Given the description of an element on the screen output the (x, y) to click on. 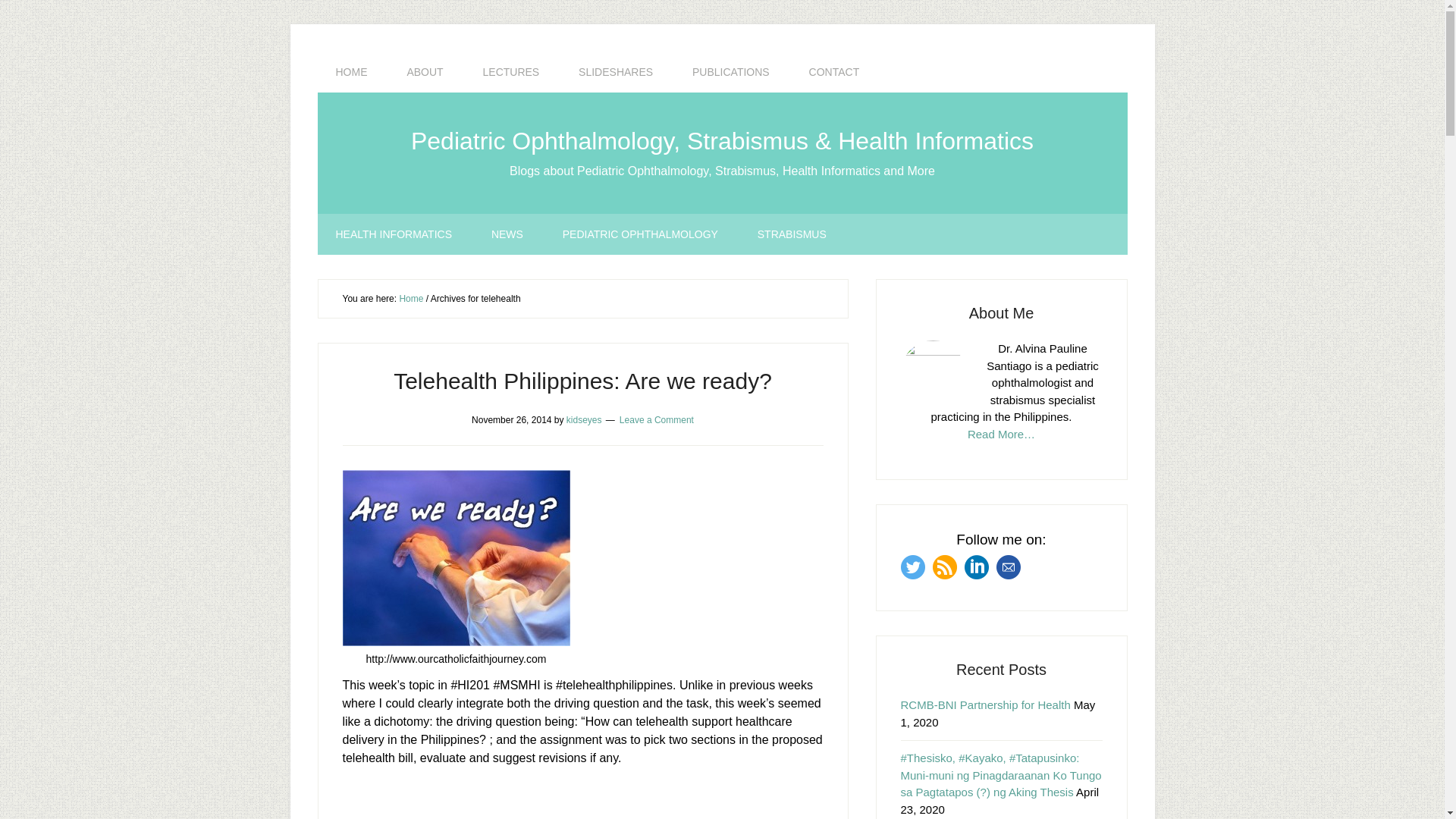
RCMB-BNI Partnership for Health (985, 704)
ABOUT (424, 71)
PUBLICATIONS (730, 71)
LECTURES (510, 71)
NEWS (507, 233)
HEALTH INFORMATICS (393, 233)
Telehealth Philippines: Are we ready? (582, 380)
Leave a Comment (657, 419)
STRABISMUS (791, 233)
kidseyes (584, 419)
HOME (351, 71)
PEDIATRIC OPHTHALMOLOGY (640, 233)
SLIDESHARES (615, 71)
Home (410, 298)
CONTACT (833, 71)
